Given the description of an element on the screen output the (x, y) to click on. 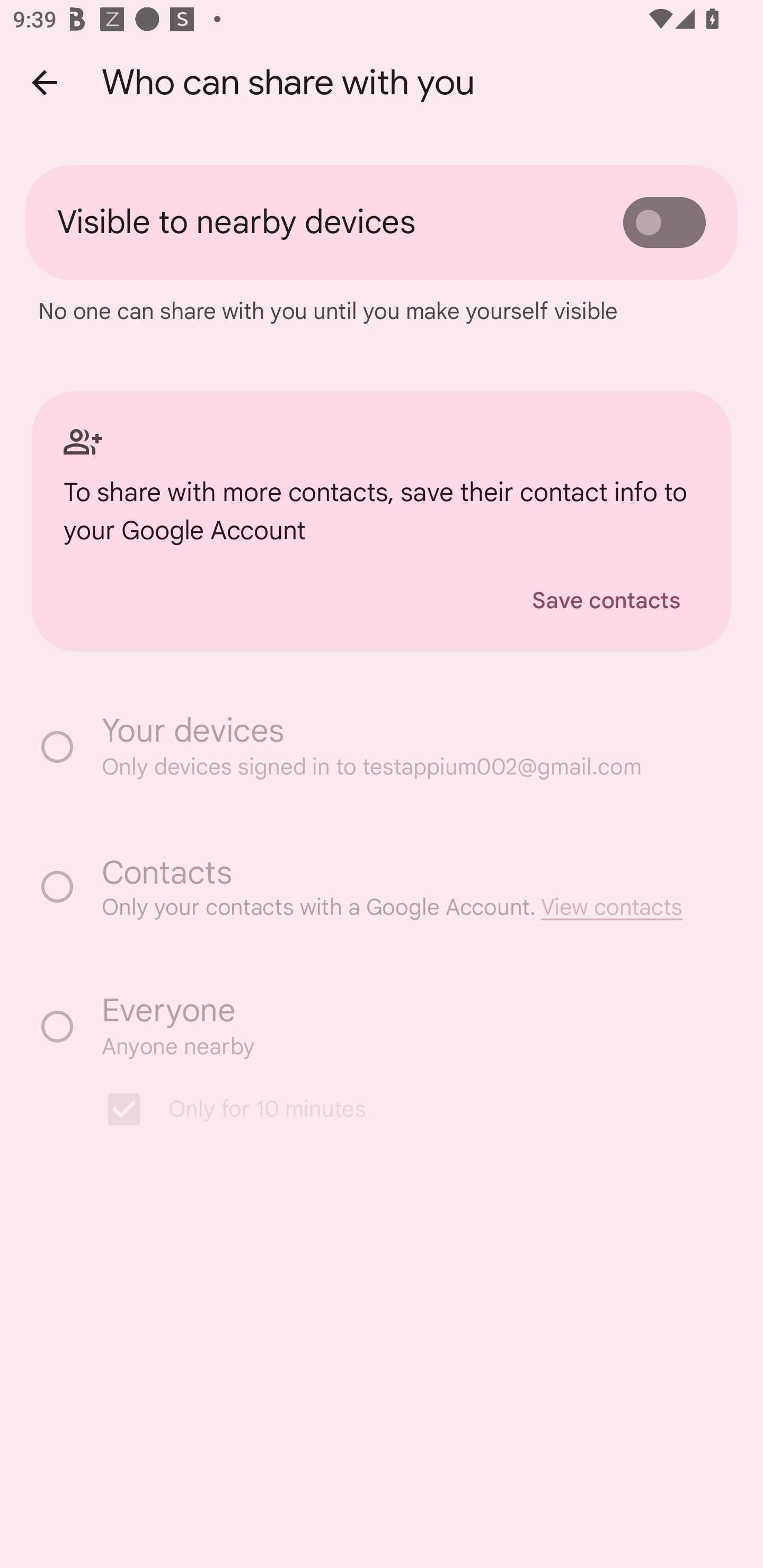
Back (44, 81)
Visible to nearby devices (381, 221)
Save contacts (605, 600)
Everyone Anyone nearby Only for 10 minutes (381, 1067)
Only for 10 minutes (390, 1108)
